Given the description of an element on the screen output the (x, y) to click on. 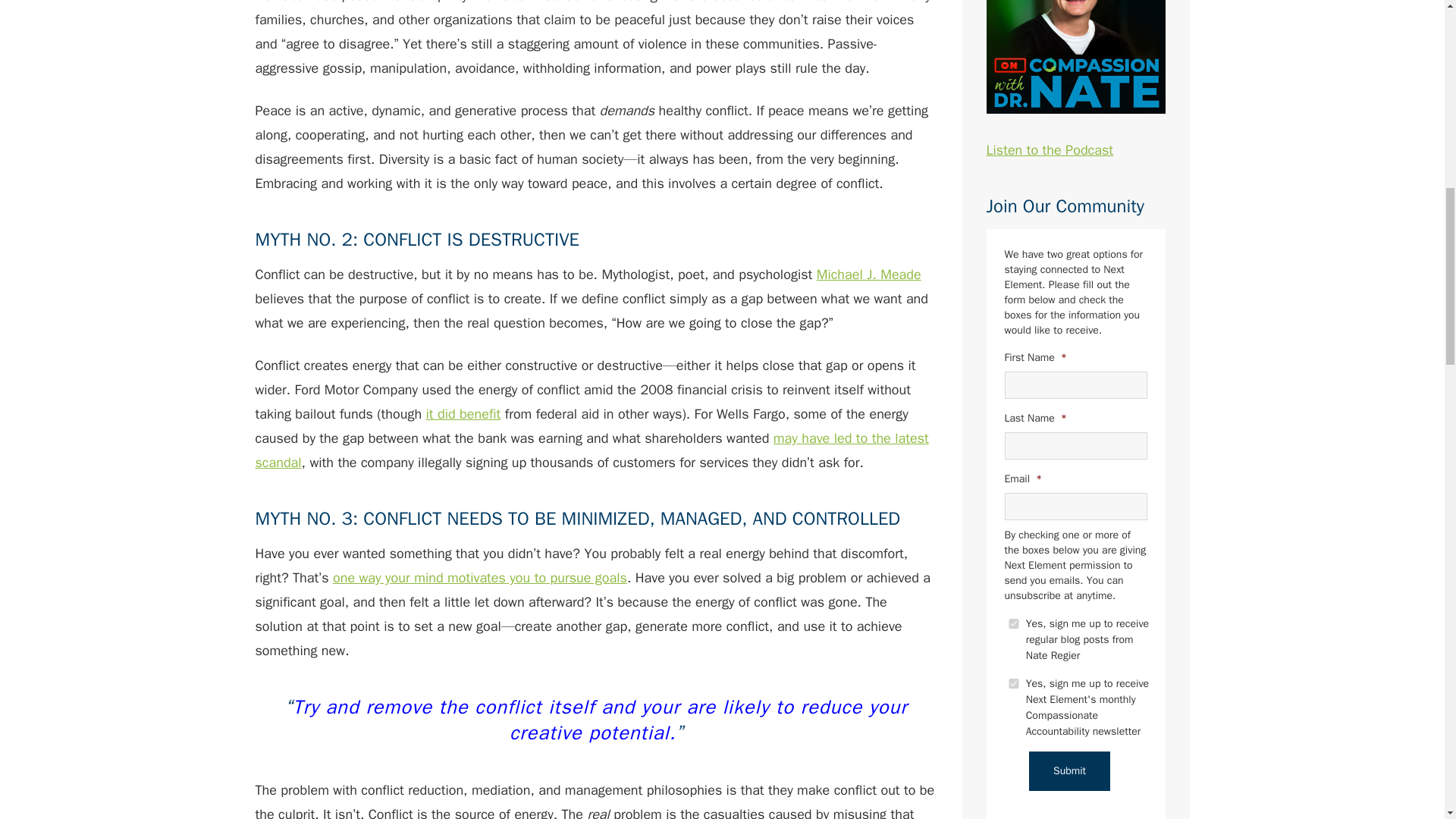
Blog (1013, 623)
Listen to the Podcast (1074, 79)
Compassion at Work (1013, 683)
Submit (1069, 771)
